Given the description of an element on the screen output the (x, y) to click on. 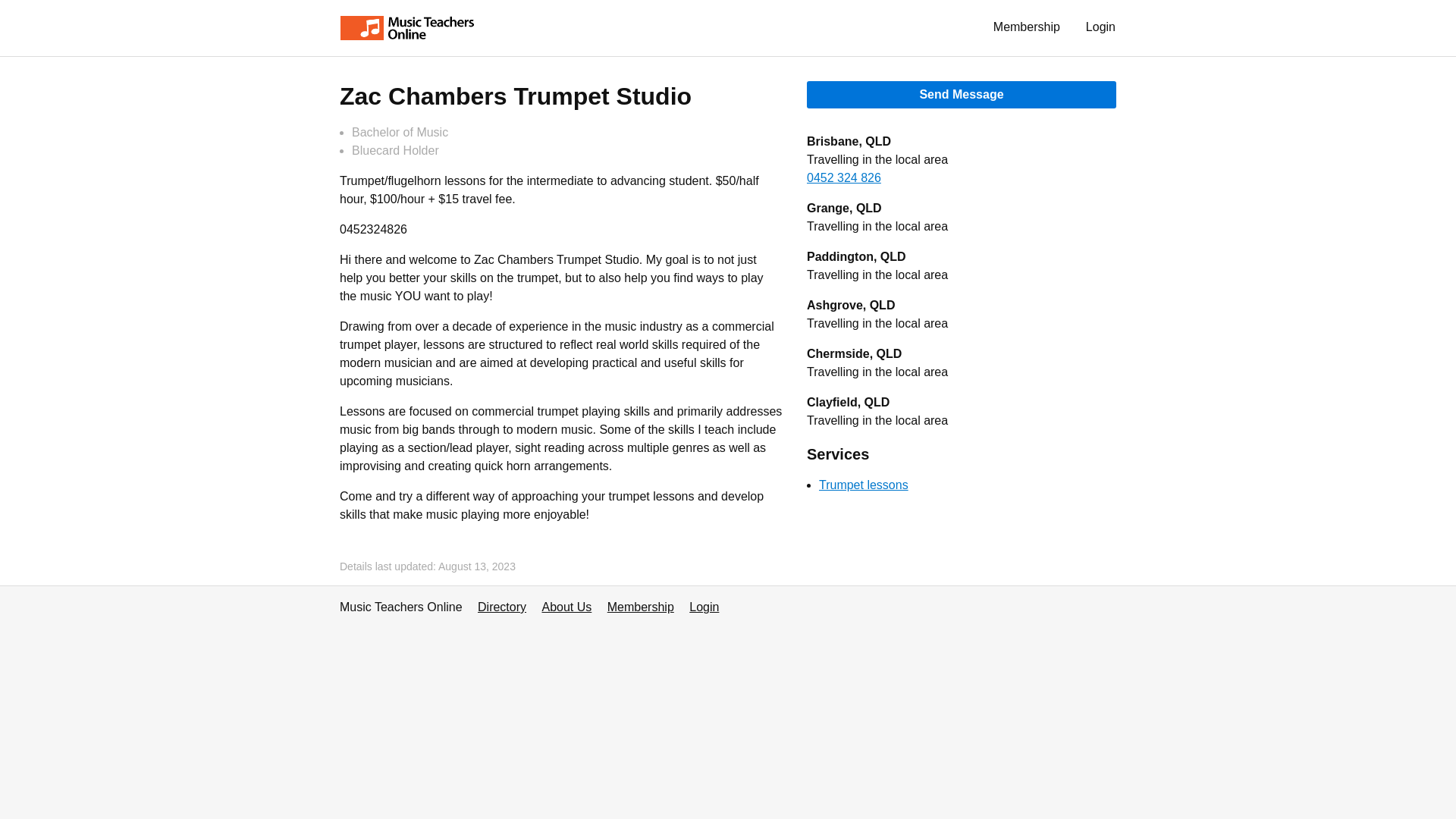
Directory (501, 606)
Membership (1026, 26)
About Us (566, 606)
Membership (640, 606)
Trumpet lessons (863, 484)
Send Message (961, 94)
Login (1100, 26)
Login (703, 606)
0452 324 826 (843, 177)
